Given the description of an element on the screen output the (x, y) to click on. 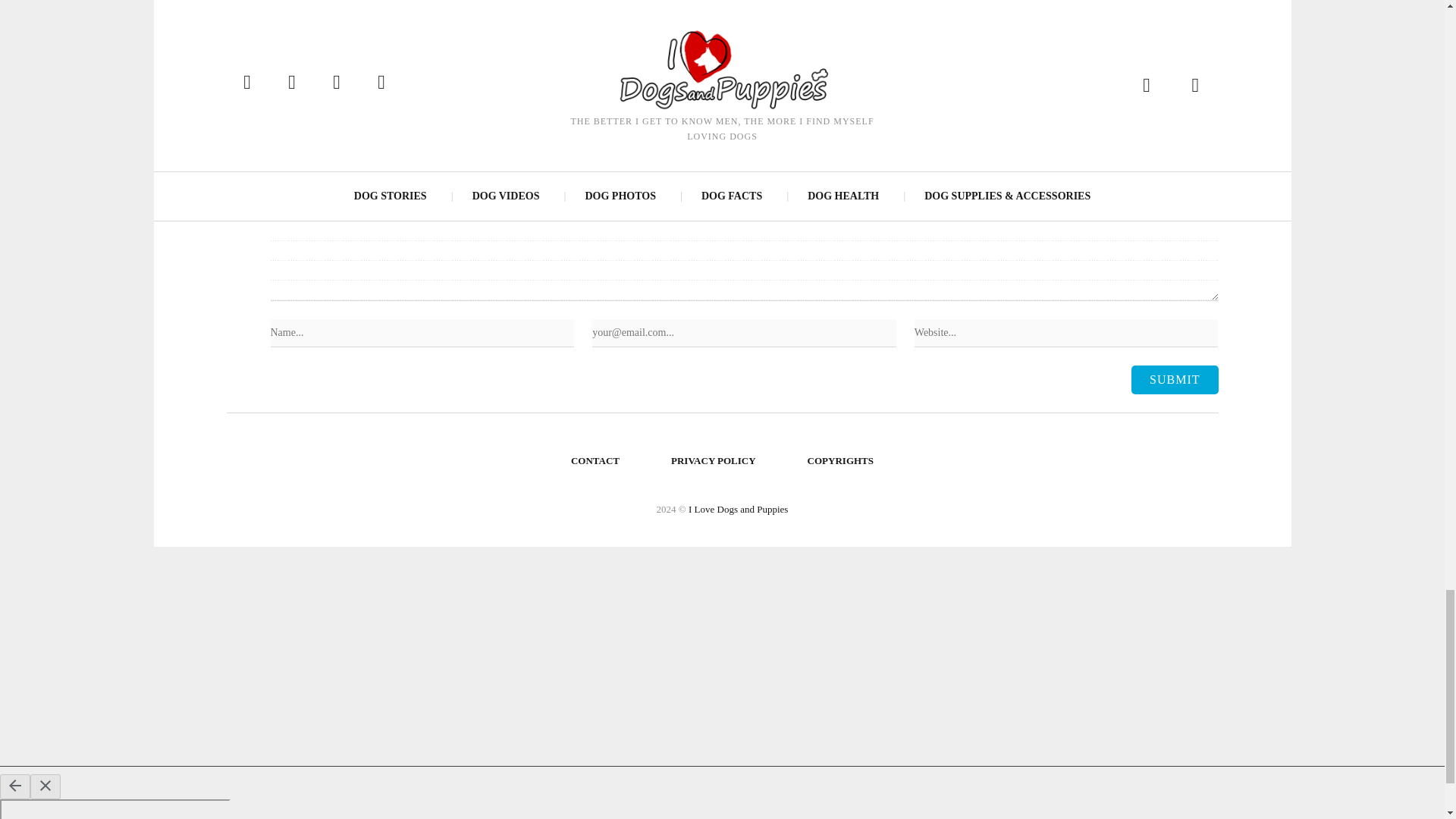
View all posts tagged Dog News (419, 17)
DOGS AND CATS (597, 17)
CONTACT (595, 460)
I Love Dogs and Puppies (737, 509)
View all posts tagged Kitten (809, 17)
View all posts tagged dogs and cats (597, 17)
KITTEN (809, 17)
HUSKY (764, 17)
DOGS (534, 17)
DOG VIDEO (483, 17)
View all posts tagged funny dog video (692, 17)
View all posts tagged Dogs (534, 17)
Submit (1174, 379)
DOG (373, 17)
ADD YOURS (456, 109)
